Given the description of an element on the screen output the (x, y) to click on. 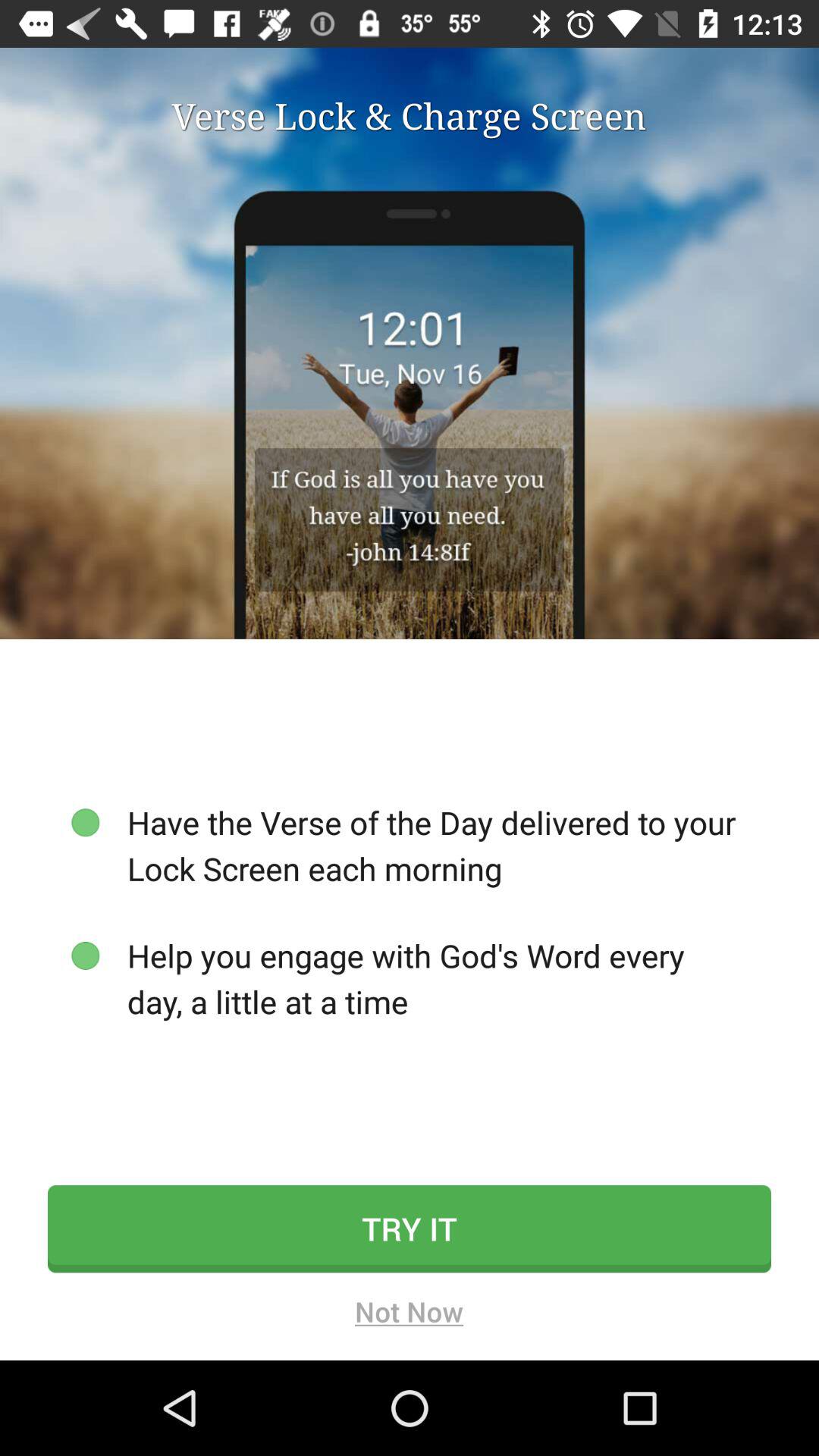
click the icon above not now icon (409, 1228)
